Given the description of an element on the screen output the (x, y) to click on. 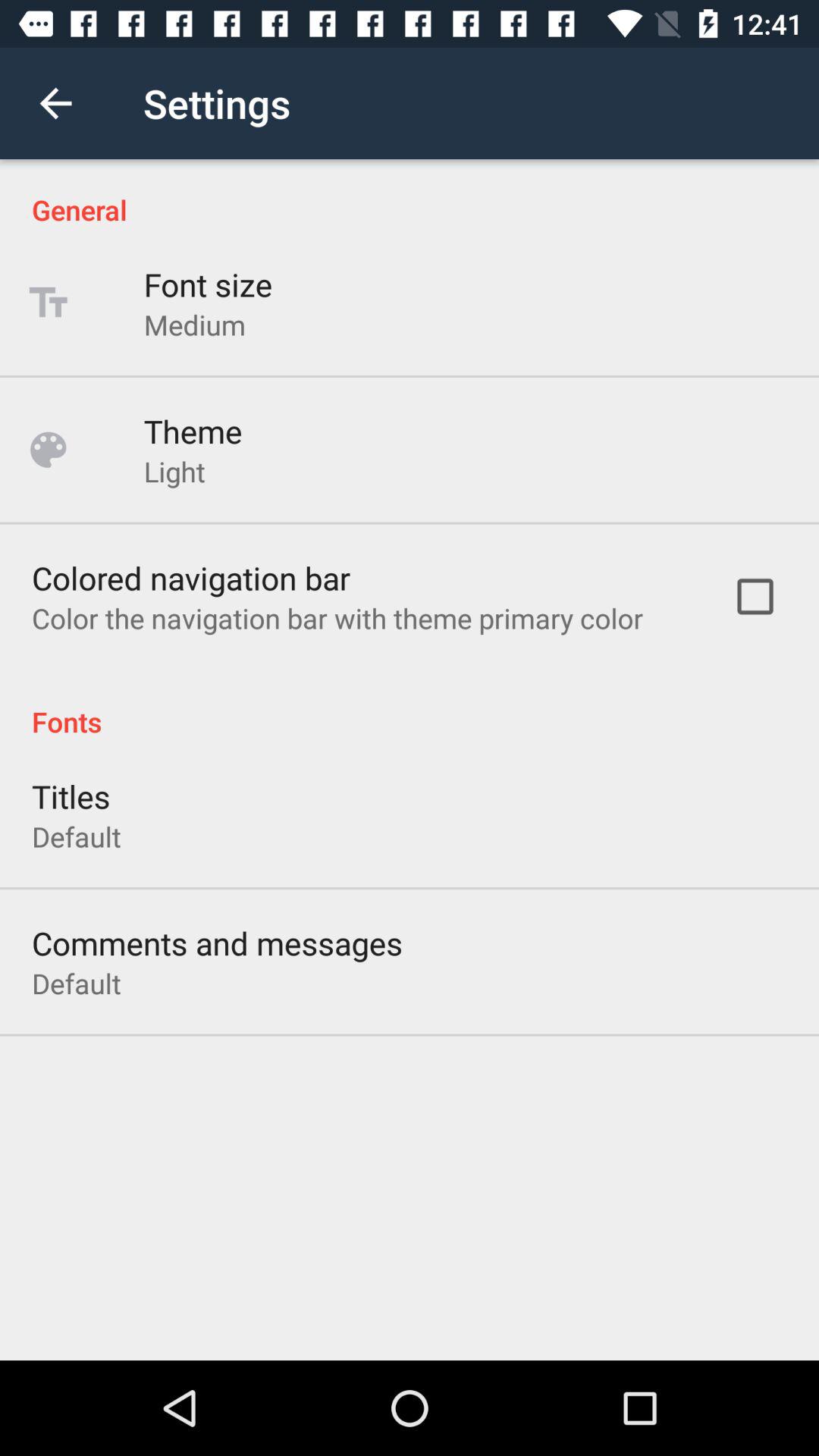
turn on the medium (194, 324)
